Given the description of an element on the screen output the (x, y) to click on. 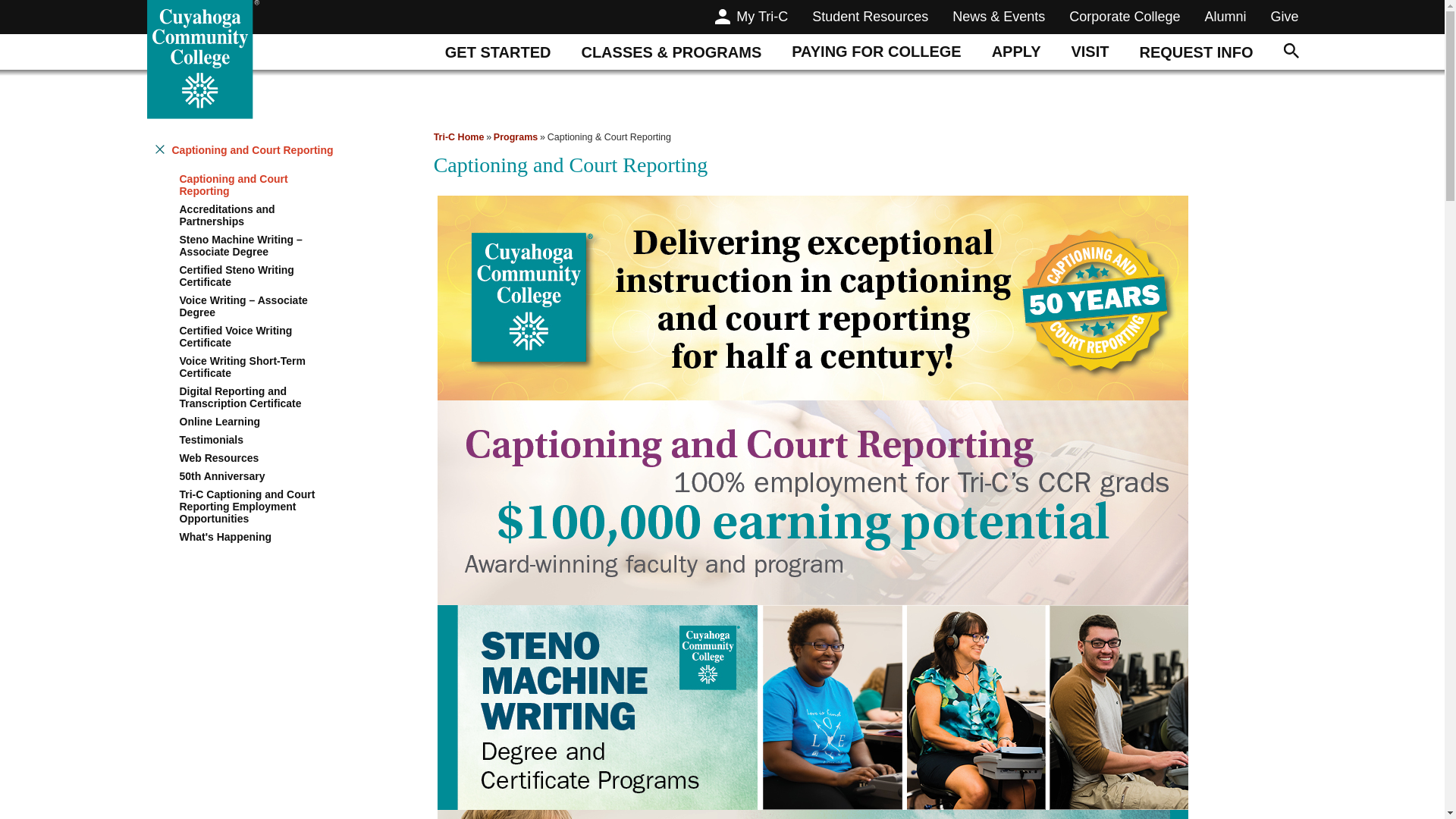
Student Resources (869, 18)
GET STARTED (497, 51)
Corporate College (1124, 18)
Alumni (1224, 18)
APPLY (1016, 51)
My Tri-C (751, 18)
REQUEST INFO (1196, 51)
Give (1283, 18)
PAYING FOR COLLEGE (875, 51)
VISIT (1089, 51)
